Given the description of an element on the screen output the (x, y) to click on. 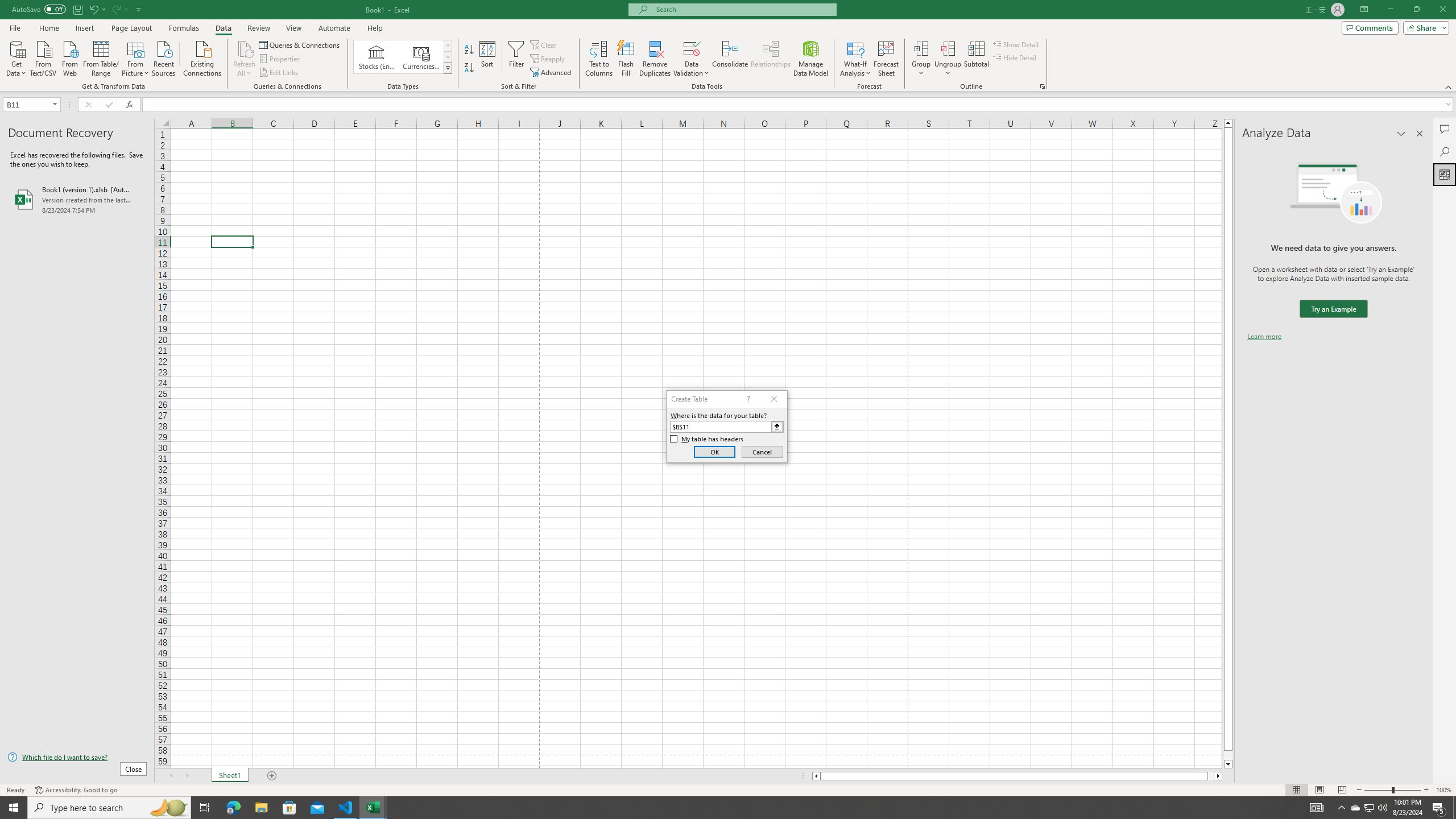
Recent Sources (163, 57)
Group... (921, 48)
From Picture (135, 57)
Formula Bar (799, 104)
Class: NetUIImage (447, 68)
Edit Links (279, 72)
Automate (334, 28)
Get Data (16, 57)
Row up (448, 45)
